Given the description of an element on the screen output the (x, y) to click on. 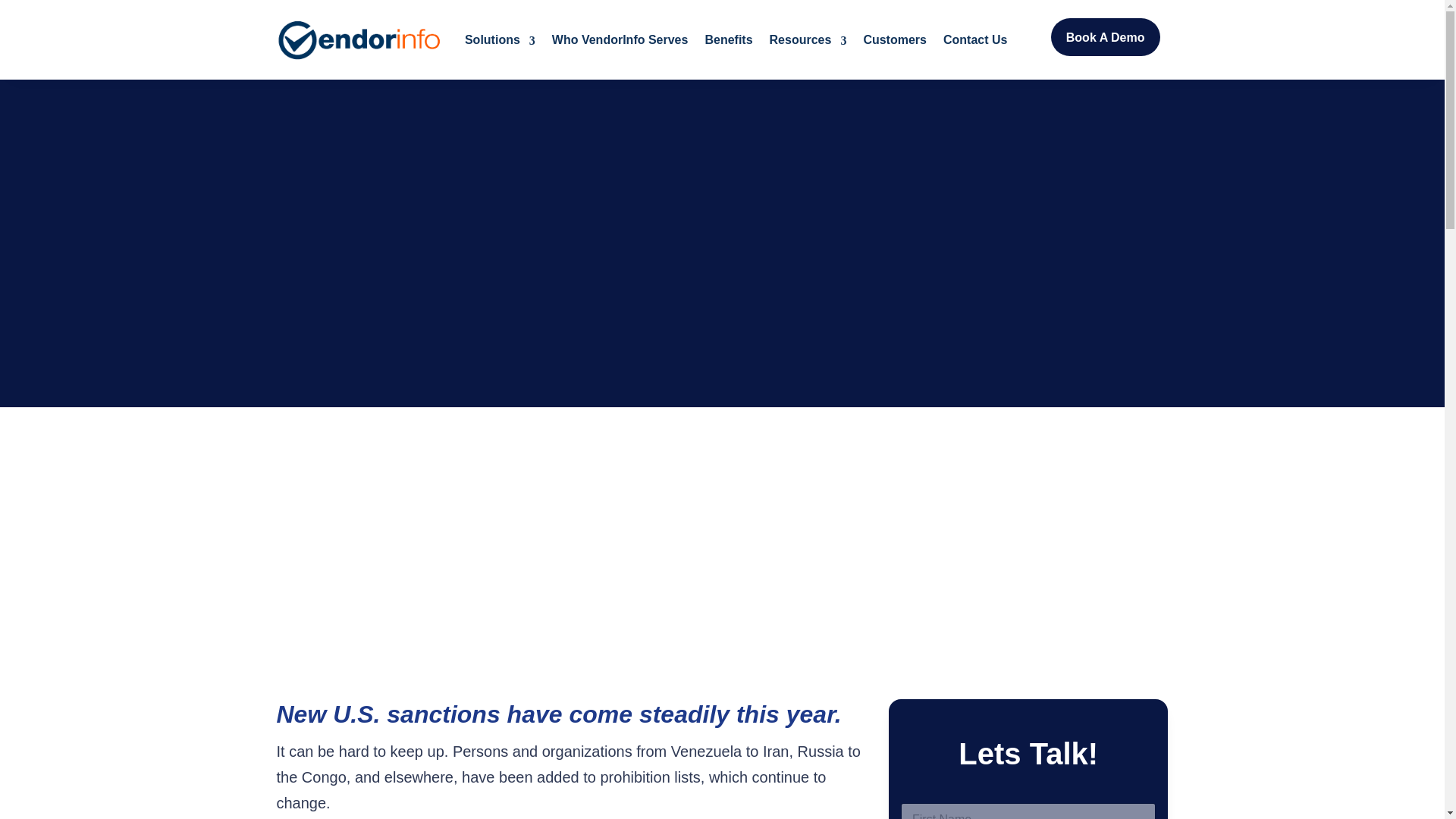
Customers (894, 39)
Who VendorInfo Serves (619, 39)
Book A Demo (1105, 37)
Contact Us (975, 39)
Solutions (499, 39)
Resources (808, 39)
